Given the description of an element on the screen output the (x, y) to click on. 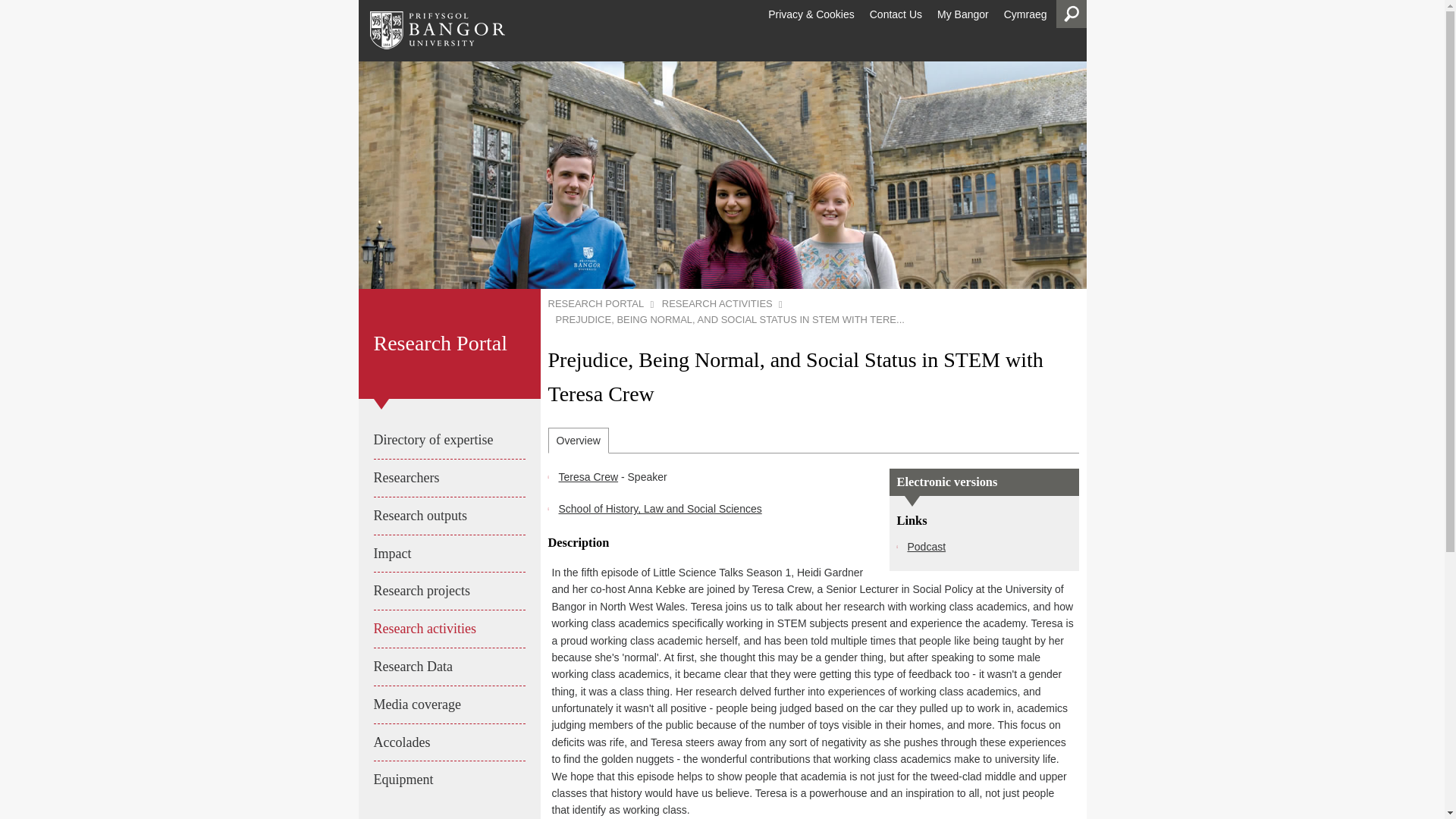
Cymraeg (1024, 14)
Research Data (448, 666)
Podcast (925, 546)
RESEARCH PORTAL (598, 304)
Research Portal (448, 343)
Research projects (448, 590)
RESEARCH ACTIVITIES (716, 304)
Contact Us (895, 14)
Overview (578, 440)
Impact (448, 553)
Researchers (448, 477)
Accolades (448, 742)
School of History, Law and Social Sciences (659, 508)
Directory of expertise (448, 439)
Research activities (448, 628)
